Given the description of an element on the screen output the (x, y) to click on. 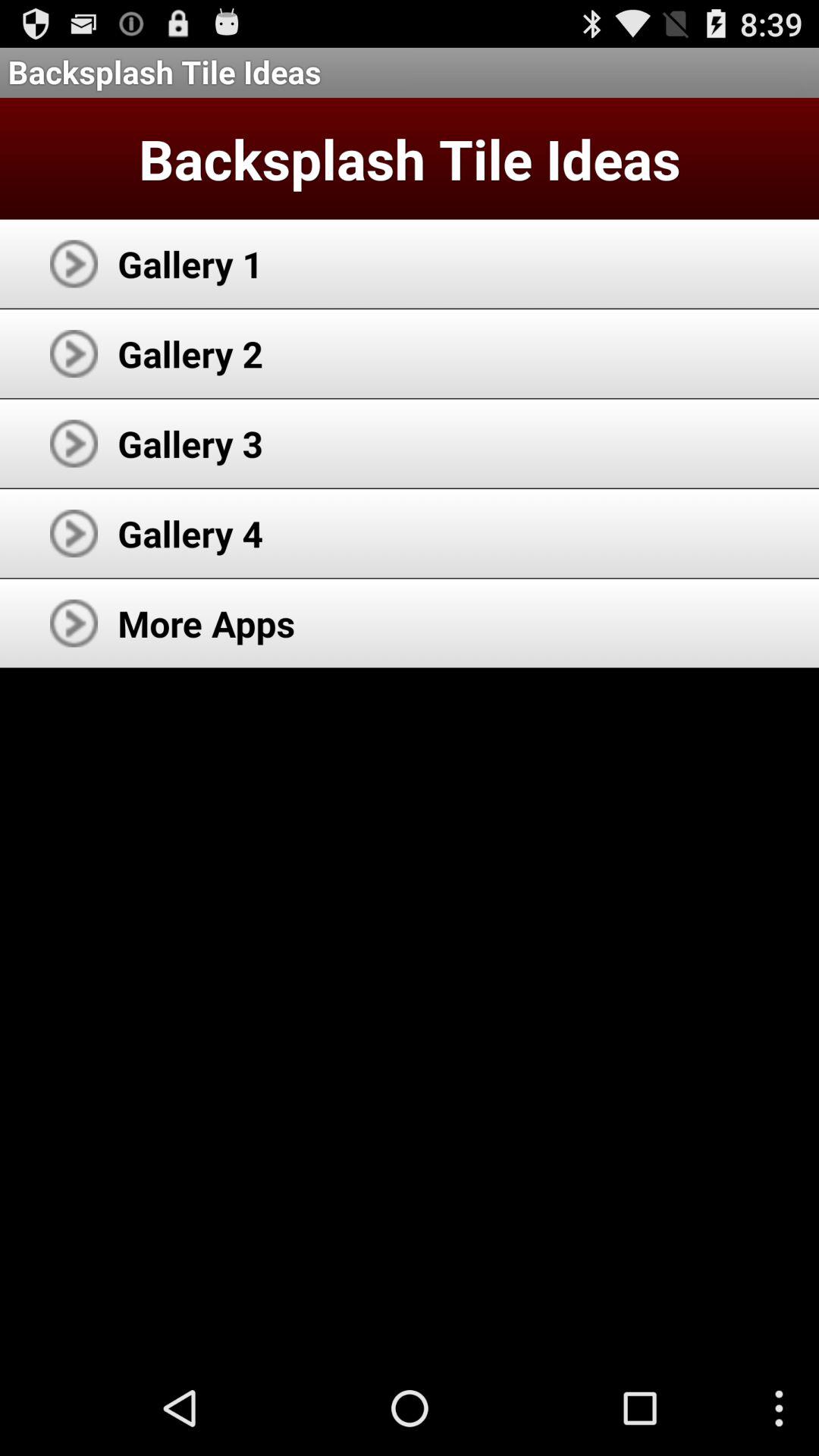
open icon above the gallery 2 (190, 263)
